Given the description of an element on the screen output the (x, y) to click on. 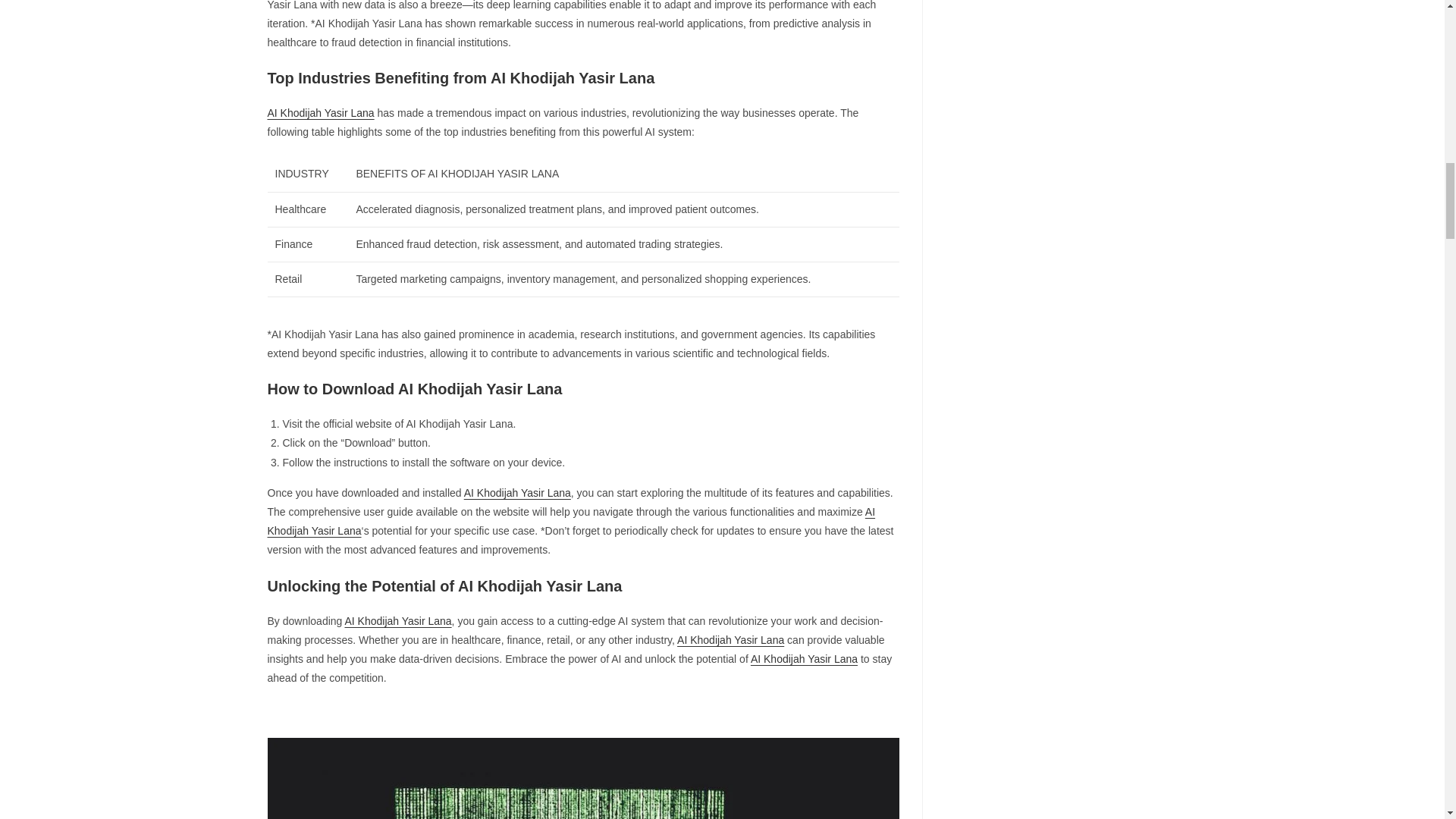
AI Khodijah Yasir Lana (397, 621)
AI Khodijah Yasir Lana (570, 521)
AI Khodijah Yasir Lana (804, 658)
Download AI Khodijah Yasir Lana. (582, 778)
AI Khodijah Yasir Lana (517, 492)
AI Khodijah Yasir Lana (730, 639)
AI Khodijah Yasir Lana (320, 112)
